Given the description of an element on the screen output the (x, y) to click on. 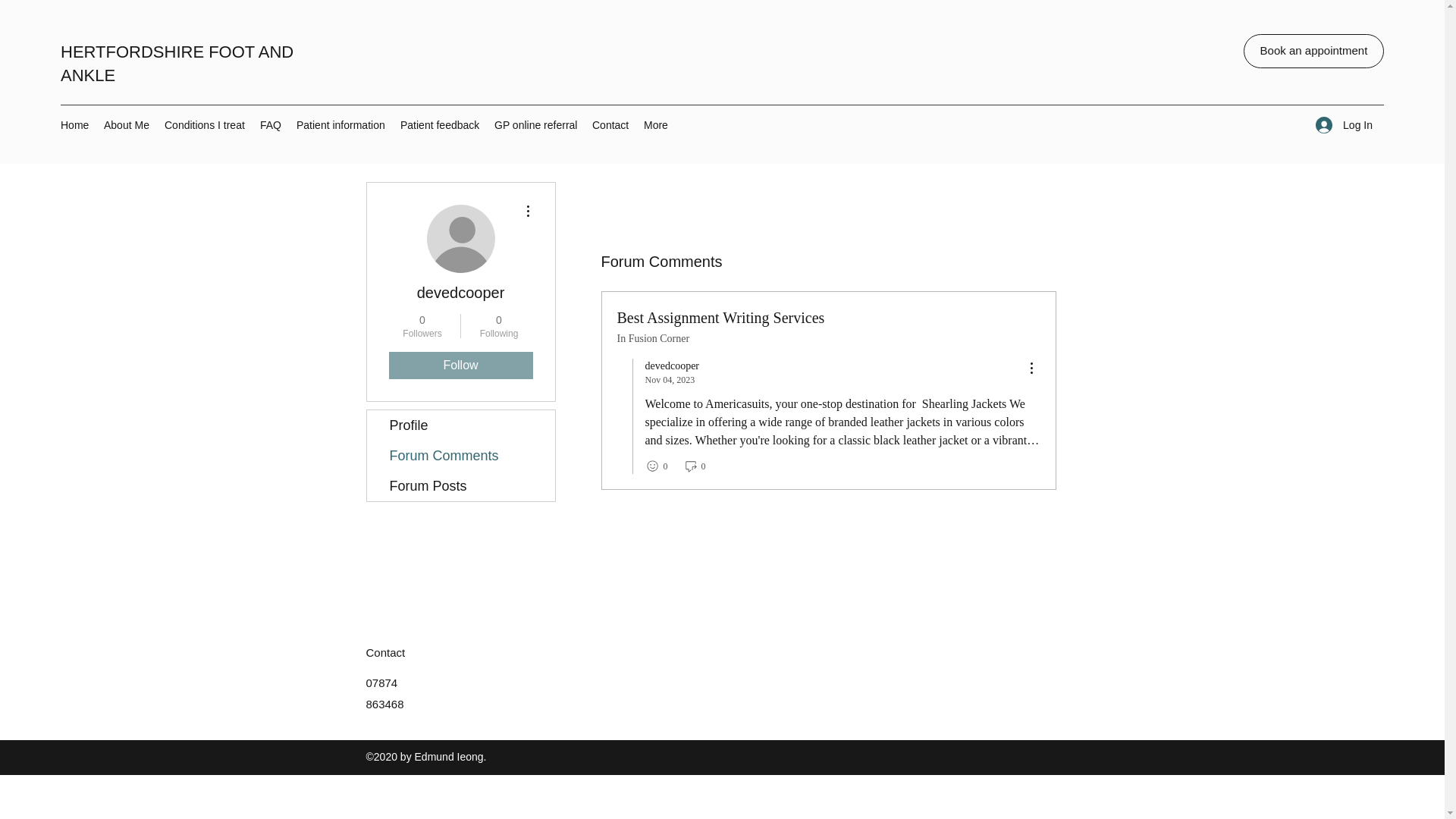
Book an appointment (421, 325)
Patient information (1313, 50)
Conditions I treat (340, 124)
FAQ (204, 124)
Patient feedback (269, 124)
Log In (439, 124)
Contact (1343, 124)
GP online referral (610, 124)
